Given the description of an element on the screen output the (x, y) to click on. 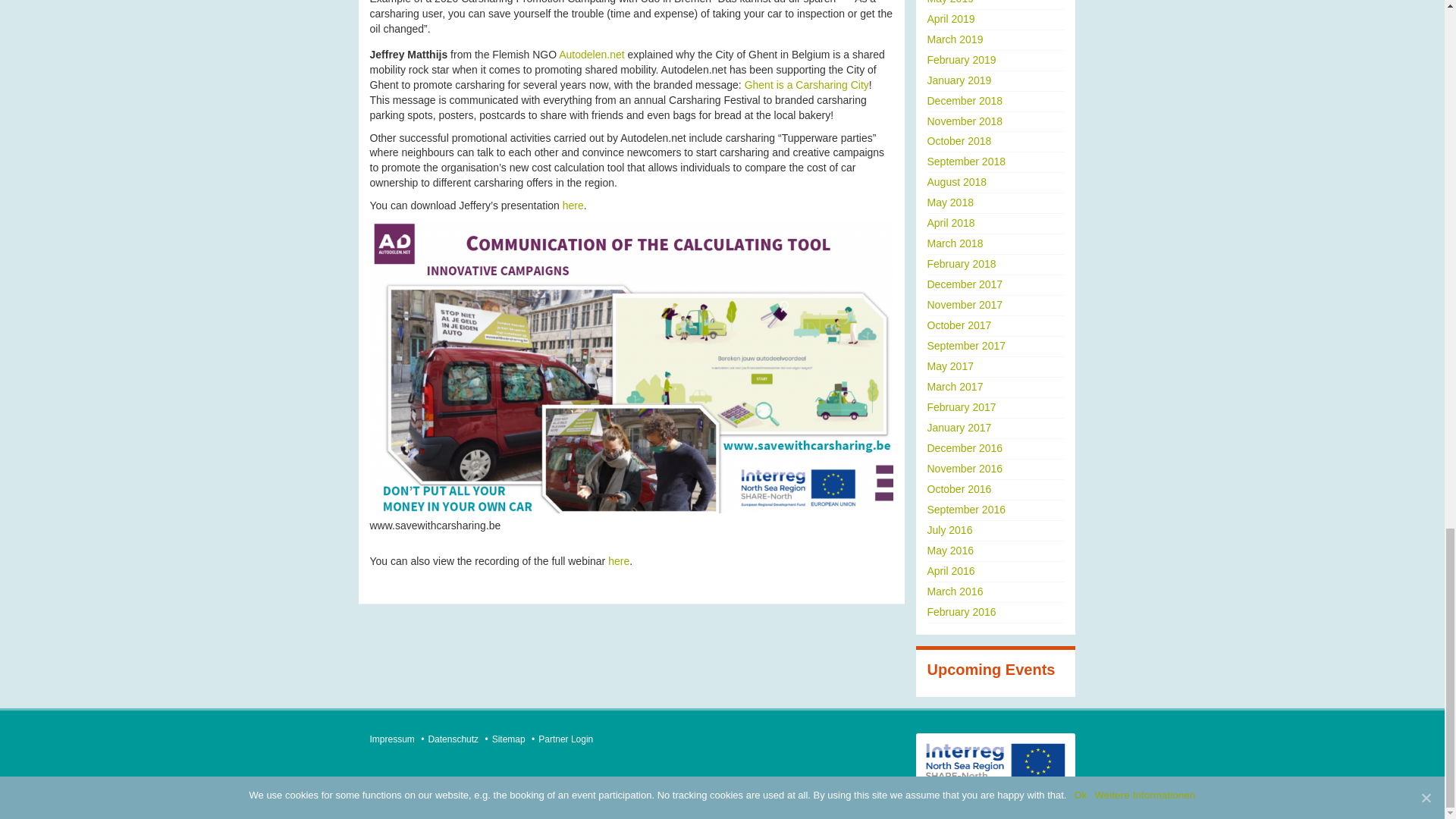
here (618, 561)
Intern (565, 738)
here (572, 205)
Autodelen.net (591, 54)
Sitemap (508, 738)
Ghent is a Carsharing City (806, 84)
North Sea Region Programme 2014 - 2020 (995, 763)
Impressum und Anbieterkennzeichnung (391, 738)
